Given the description of an element on the screen output the (x, y) to click on. 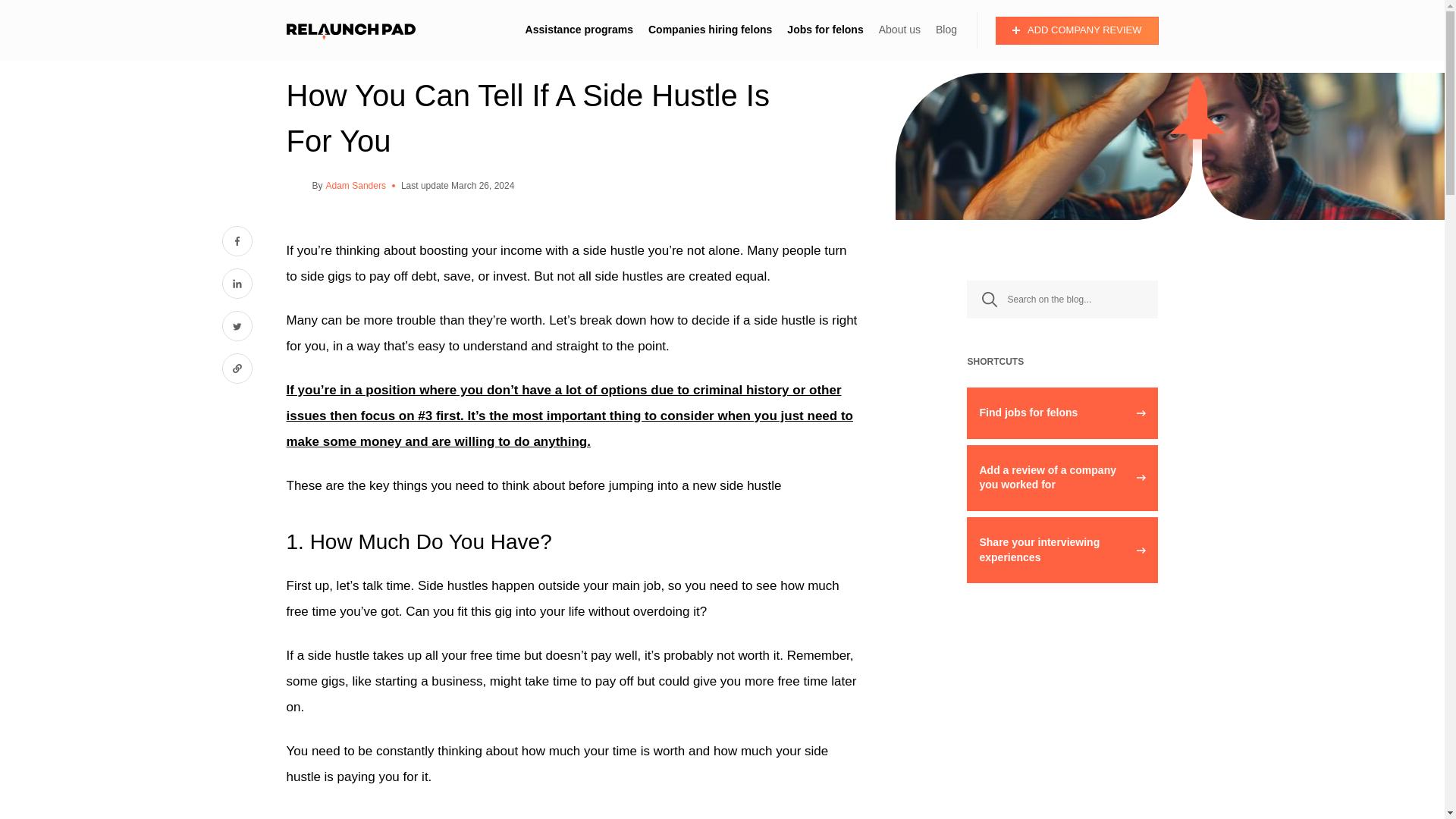
Companies hiring felons (709, 30)
Add a review of a company you worked for (1061, 478)
Find jobs for felons (1061, 412)
Blog (946, 30)
ADD COMPANY REVIEW (1076, 30)
Adam Sanders (355, 185)
Share your interviewing experiences (1061, 549)
Jobs for felons (825, 30)
Assistance programs (579, 30)
About us (899, 30)
